Given the description of an element on the screen output the (x, y) to click on. 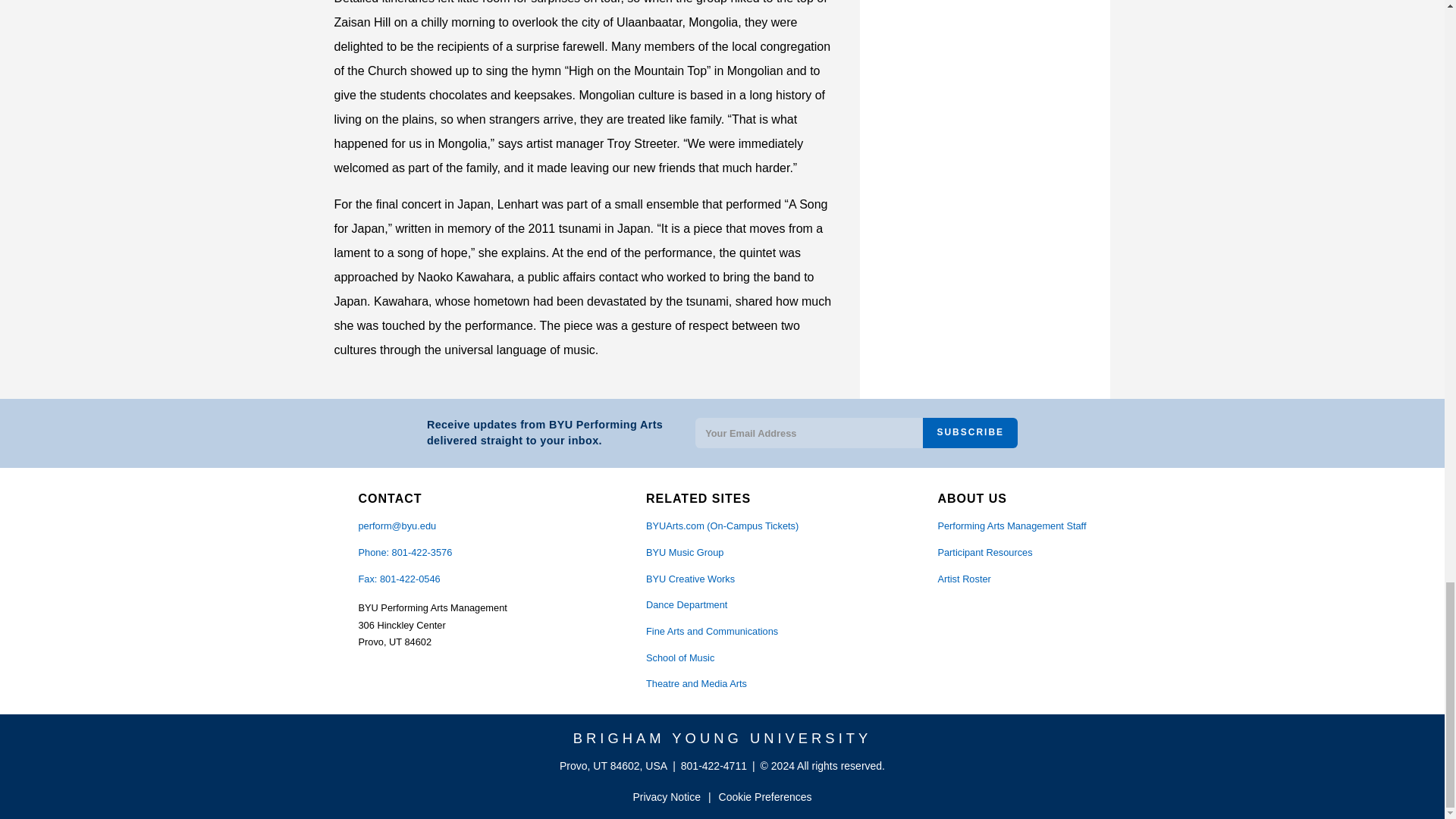
SUBSCRIBE (970, 432)
